Given the description of an element on the screen output the (x, y) to click on. 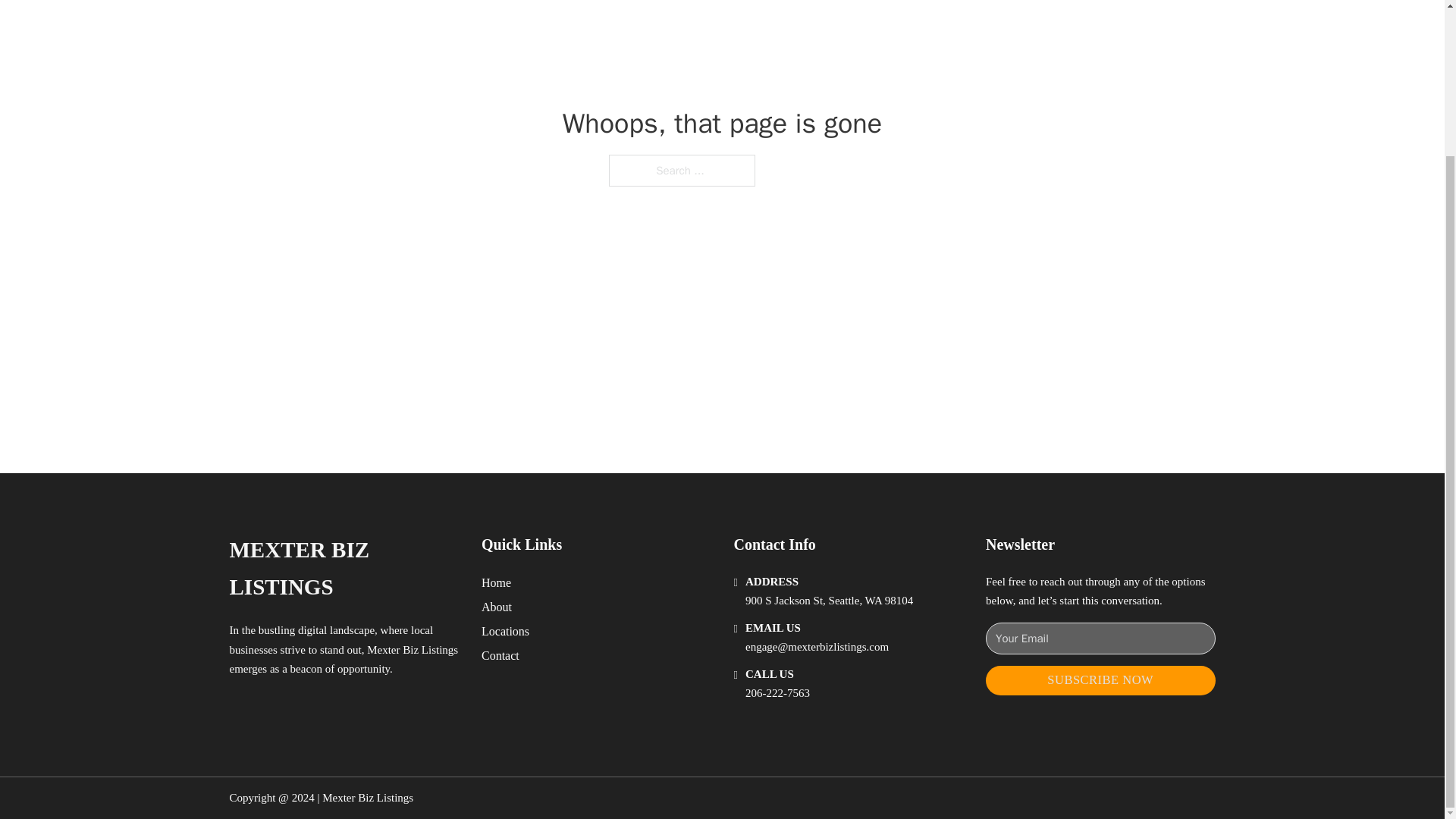
Home (496, 582)
MEXTER BIZ LISTINGS (343, 568)
Locations (505, 630)
SUBSCRIBE NOW (1100, 680)
206-222-7563 (777, 693)
Contact (500, 655)
About (496, 607)
